Given the description of an element on the screen output the (x, y) to click on. 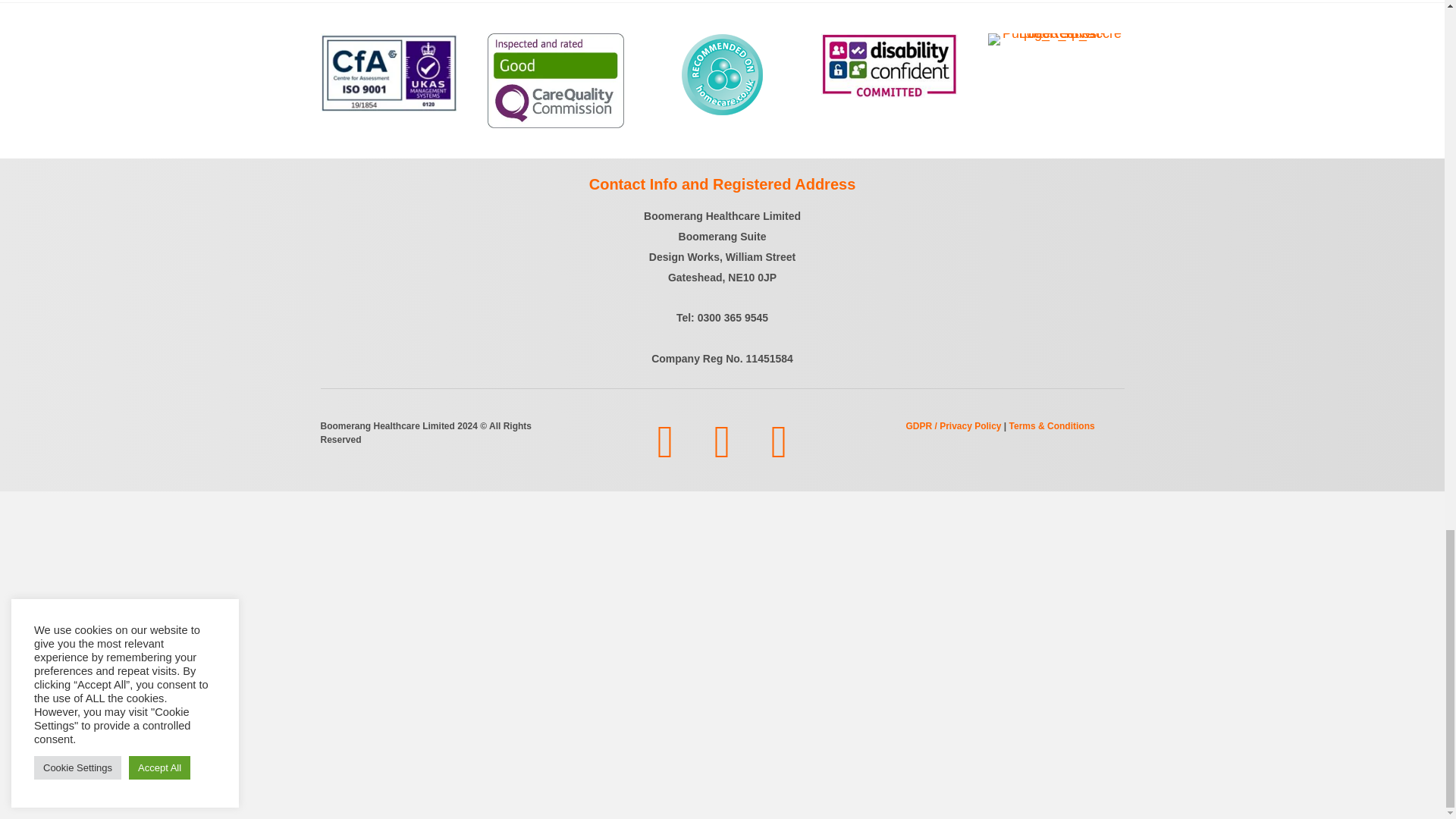
ISO-9001-3 (388, 72)
CQC-2 (554, 80)
Disability-Confident-Committed (888, 65)
homecare.co.uk (722, 75)
